Given the description of an element on the screen output the (x, y) to click on. 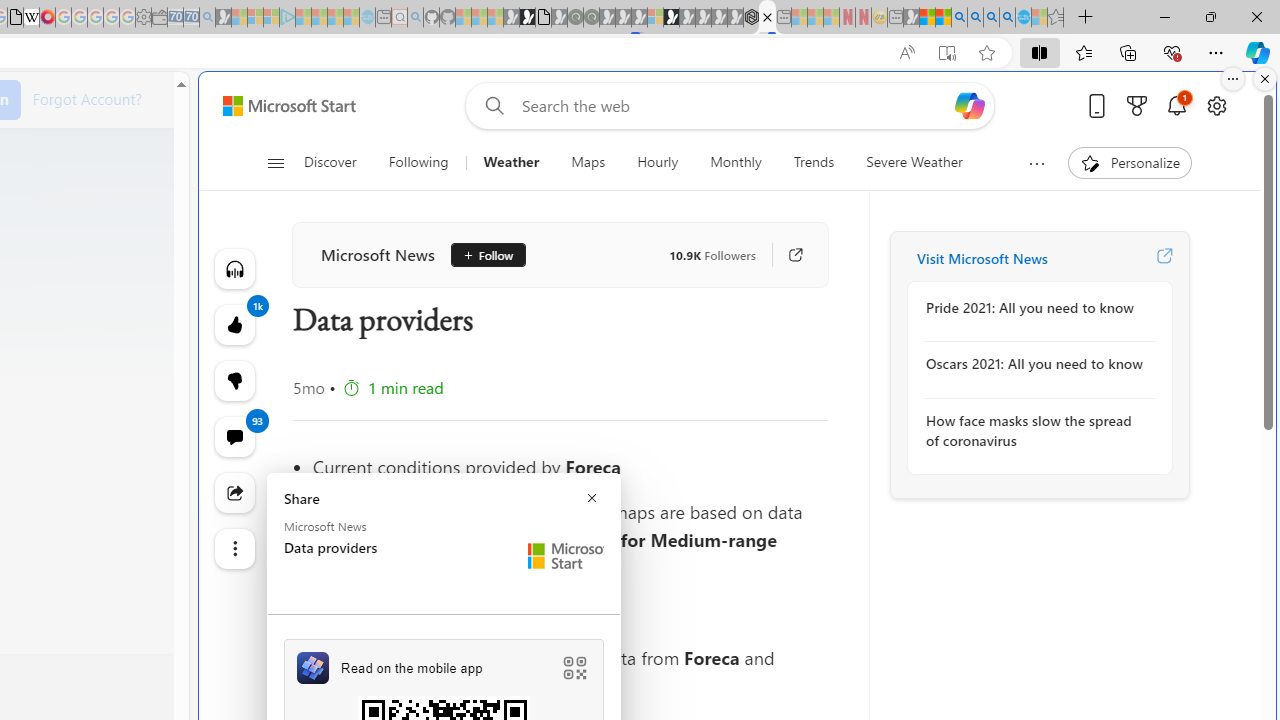
Show more topics (1036, 163)
Future Focus Report 2024 - Sleeping (591, 17)
Trends (813, 162)
